Given the description of an element on the screen output the (x, y) to click on. 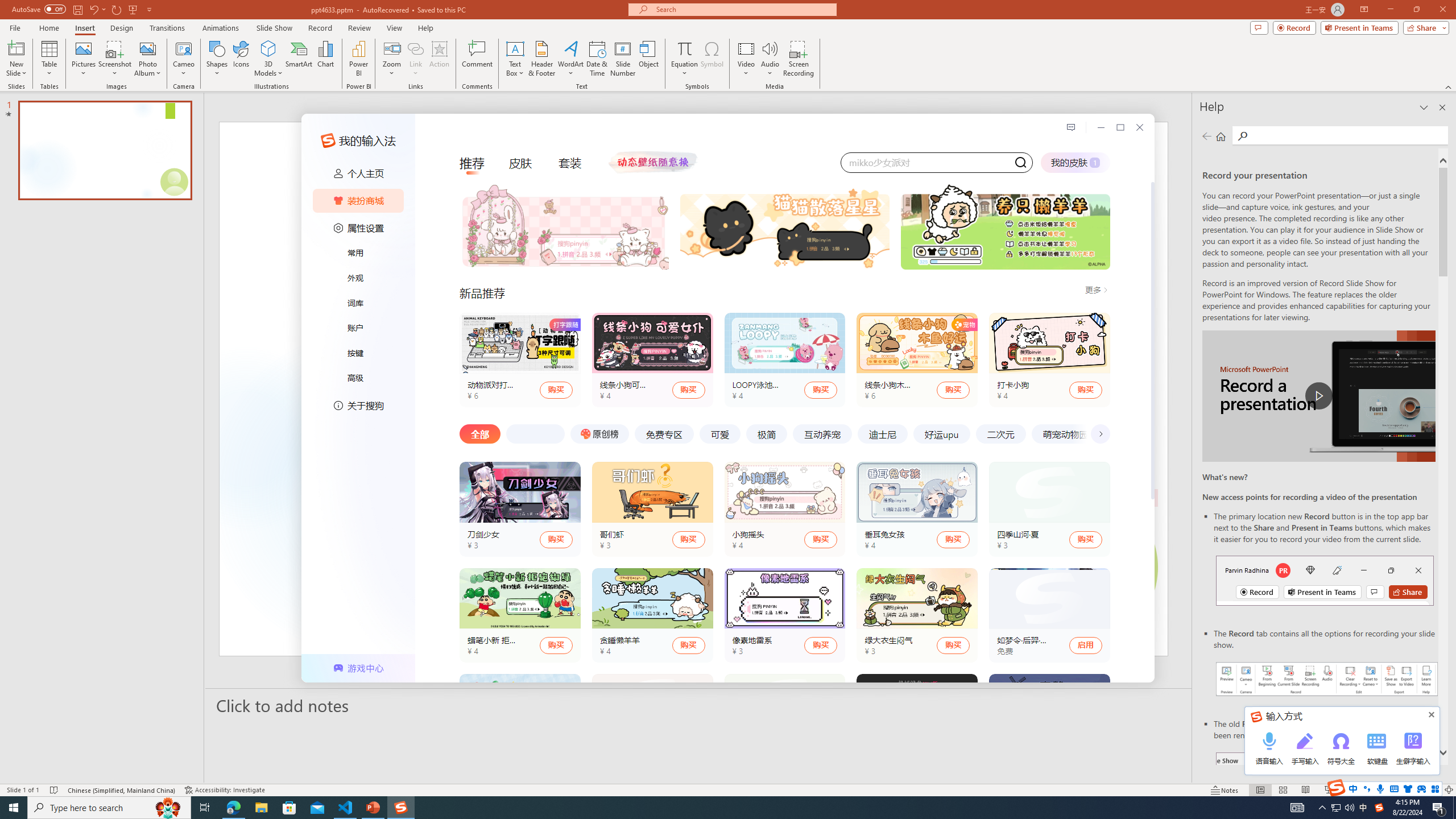
Equation (683, 58)
Action Center, 1 new notification (1439, 807)
Photo Album... (147, 58)
Table (49, 58)
